Given the description of an element on the screen output the (x, y) to click on. 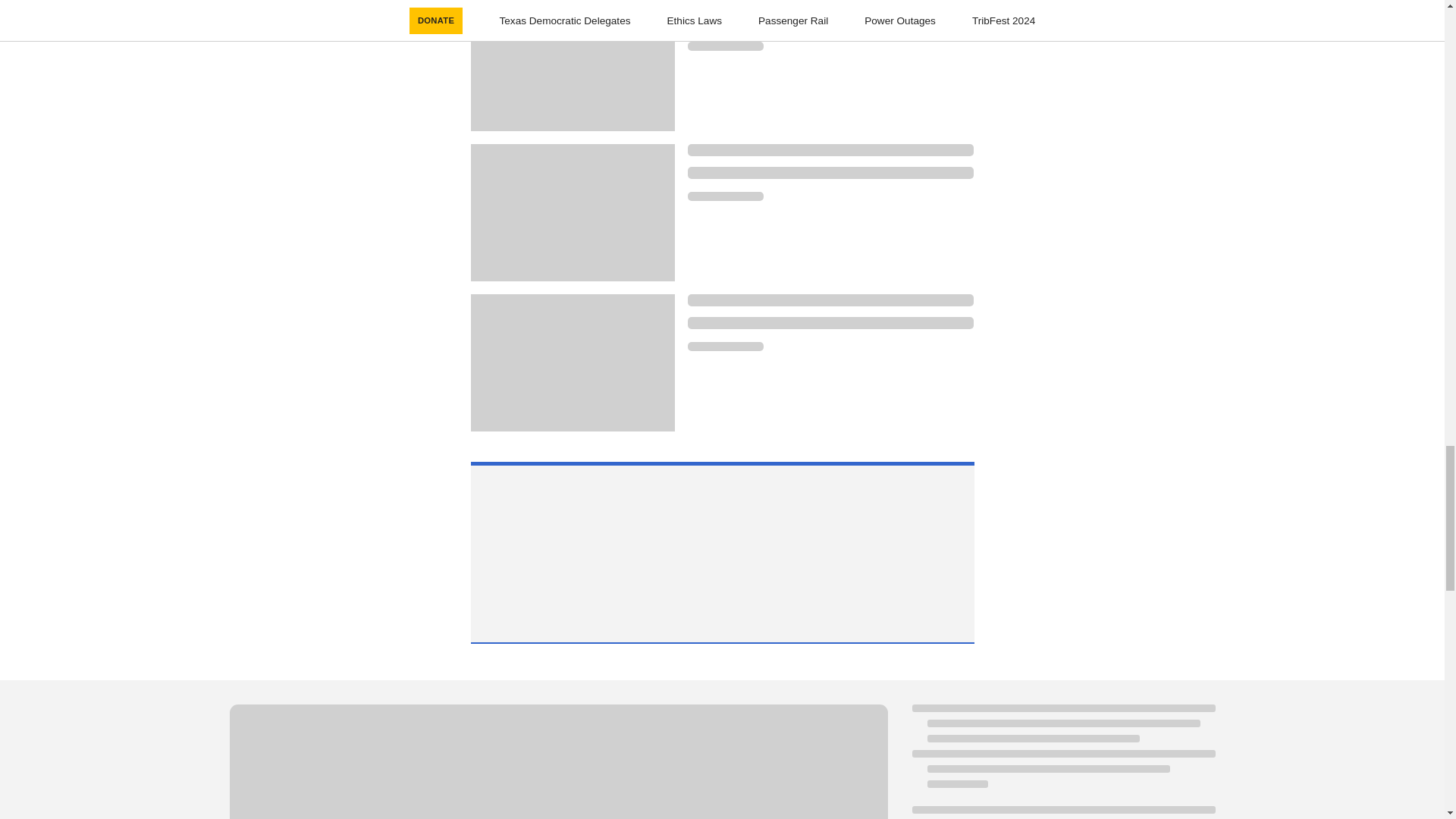
Loading indicator (830, 22)
Loading indicator (830, 150)
Loading indicator (830, 173)
Loading indicator (557, 761)
Loading indicator (830, 300)
Loading indicator (830, 322)
Loading indicator (724, 346)
Loading indicator (724, 195)
Loading indicator (830, 2)
Loading indicator (724, 45)
